Given the description of an element on the screen output the (x, y) to click on. 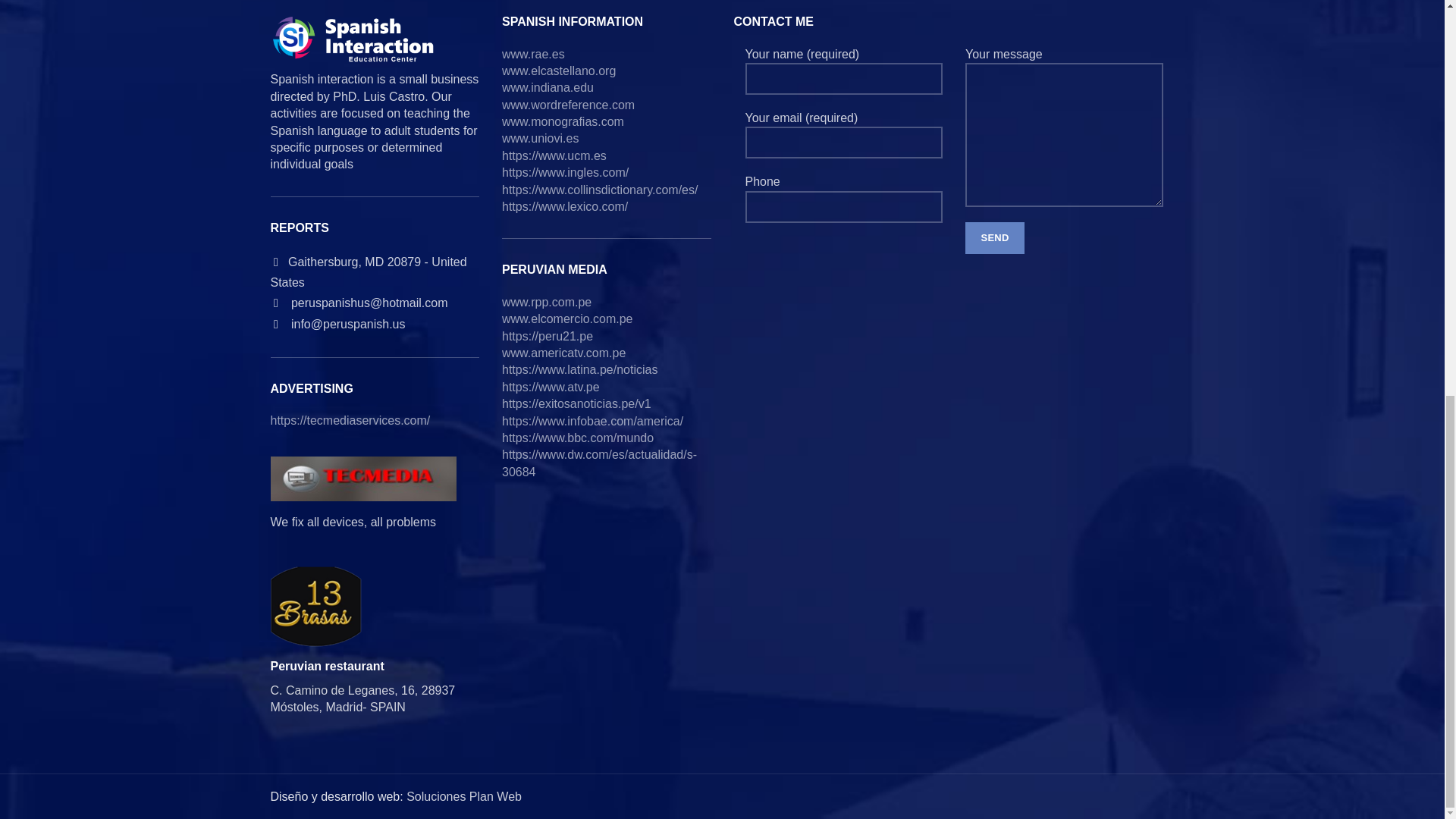
www.rae.es (533, 53)
1 (362, 478)
www.indiana.edu (548, 87)
www.uniovi.es (540, 137)
2 (315, 606)
www.elcastellano.org (558, 70)
www.wordreference.com (568, 104)
Send (995, 237)
www.monografias.com (563, 121)
